Given the description of an element on the screen output the (x, y) to click on. 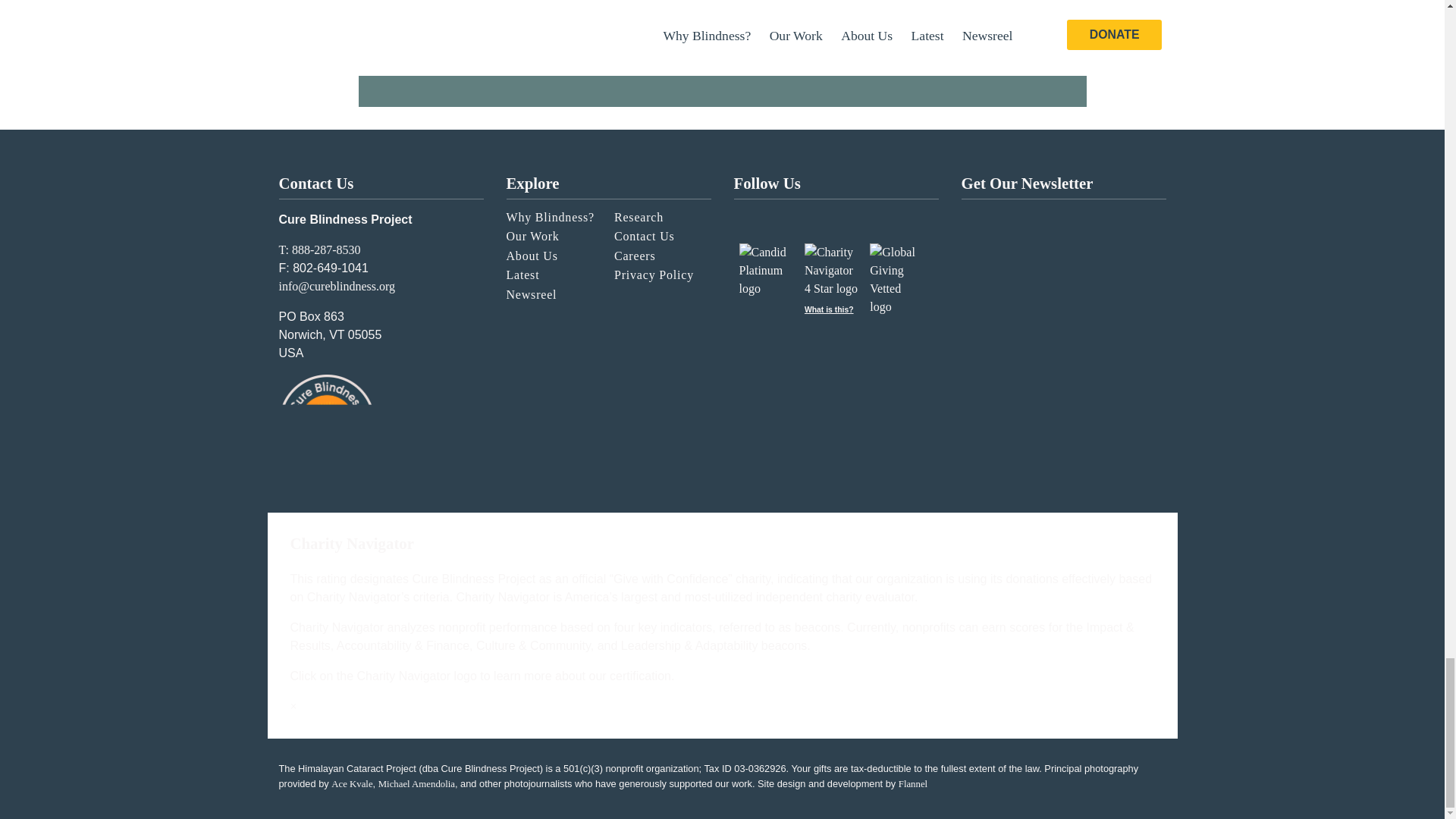
Instagram (751, 213)
